Given the description of an element on the screen output the (x, y) to click on. 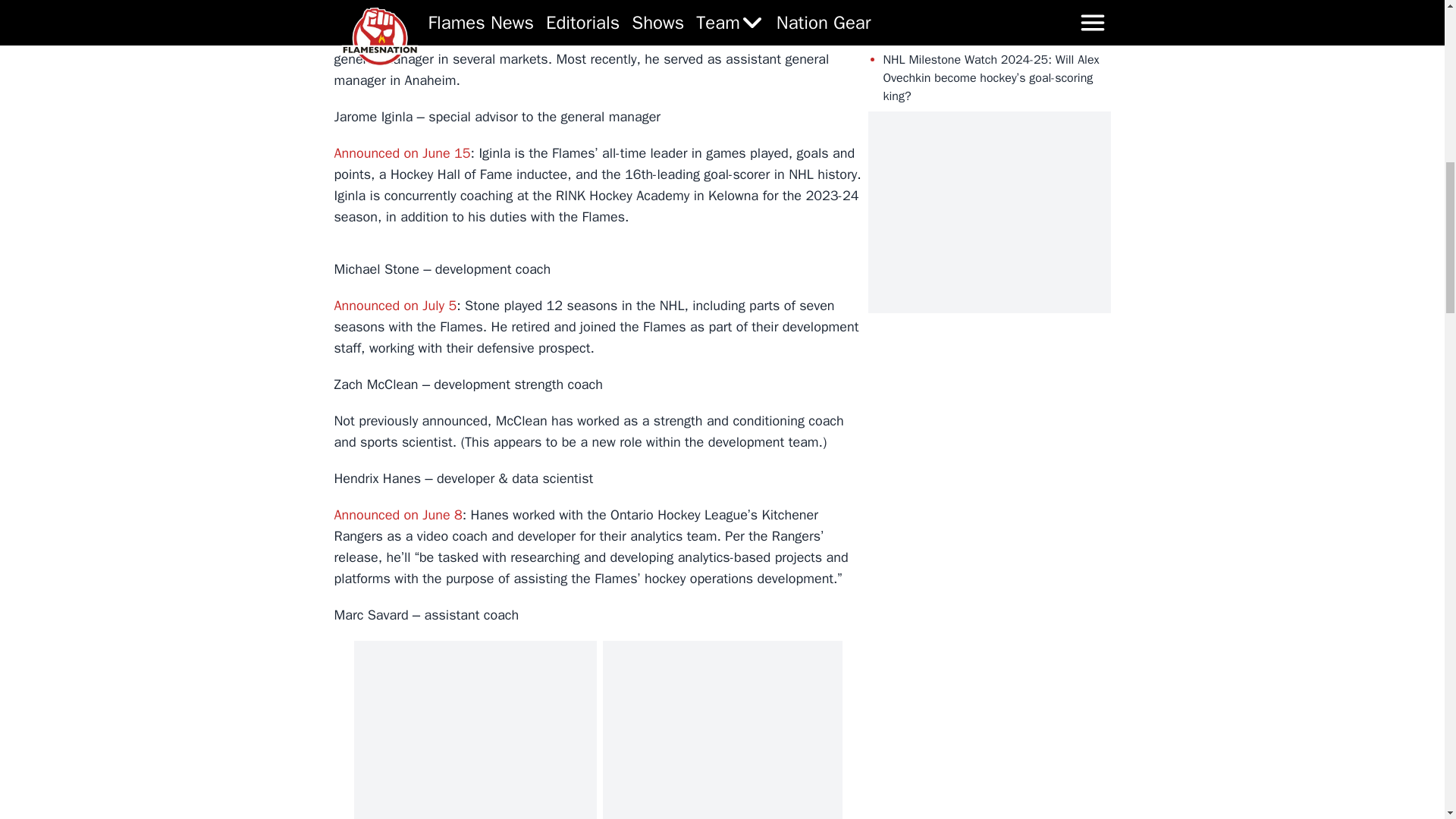
Announced on June 15 (401, 152)
Announced on July 5 (395, 305)
Announced on June 8 (397, 514)
Announced on May 23: (401, 37)
